Given the description of an element on the screen output the (x, y) to click on. 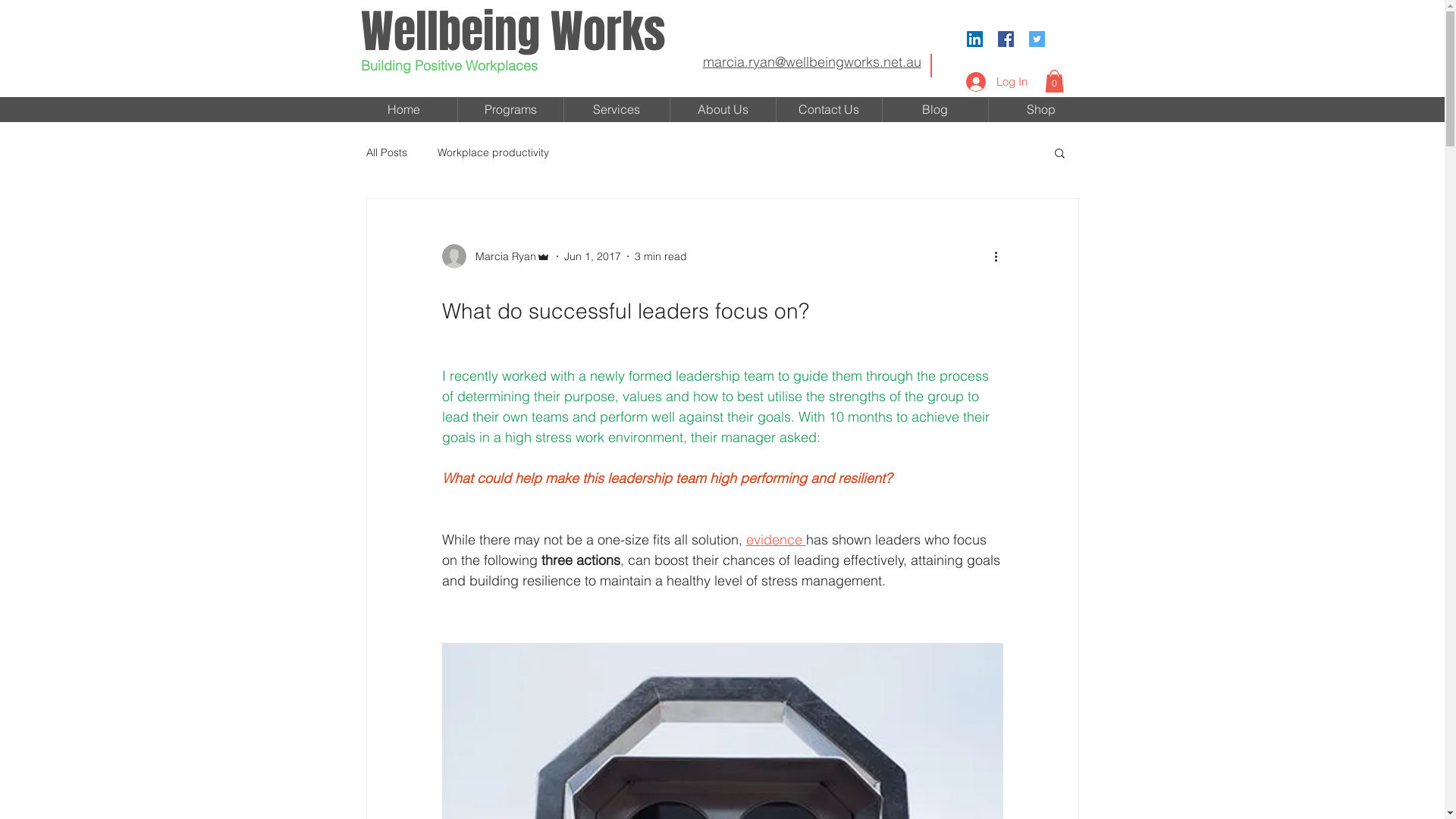
0 Element type: text (1053, 80)
About Us Element type: text (722, 109)
Log In Element type: text (996, 81)
Home Element type: text (403, 109)
Marcia Ryan Element type: text (495, 256)
Shop Element type: text (1041, 109)
evidence  Element type: text (776, 539)
Workplace productivity Element type: text (492, 152)
Contact Us Element type: text (828, 109)
marcia.ryan@wellbeingworks.net.au Element type: text (811, 61)
Building Positive Workplaces Element type: text (448, 65)
Programs Element type: text (510, 109)
Services Element type: text (616, 109)
All Posts Element type: text (385, 152)
Blog Element type: text (935, 109)
